Given the description of an element on the screen output the (x, y) to click on. 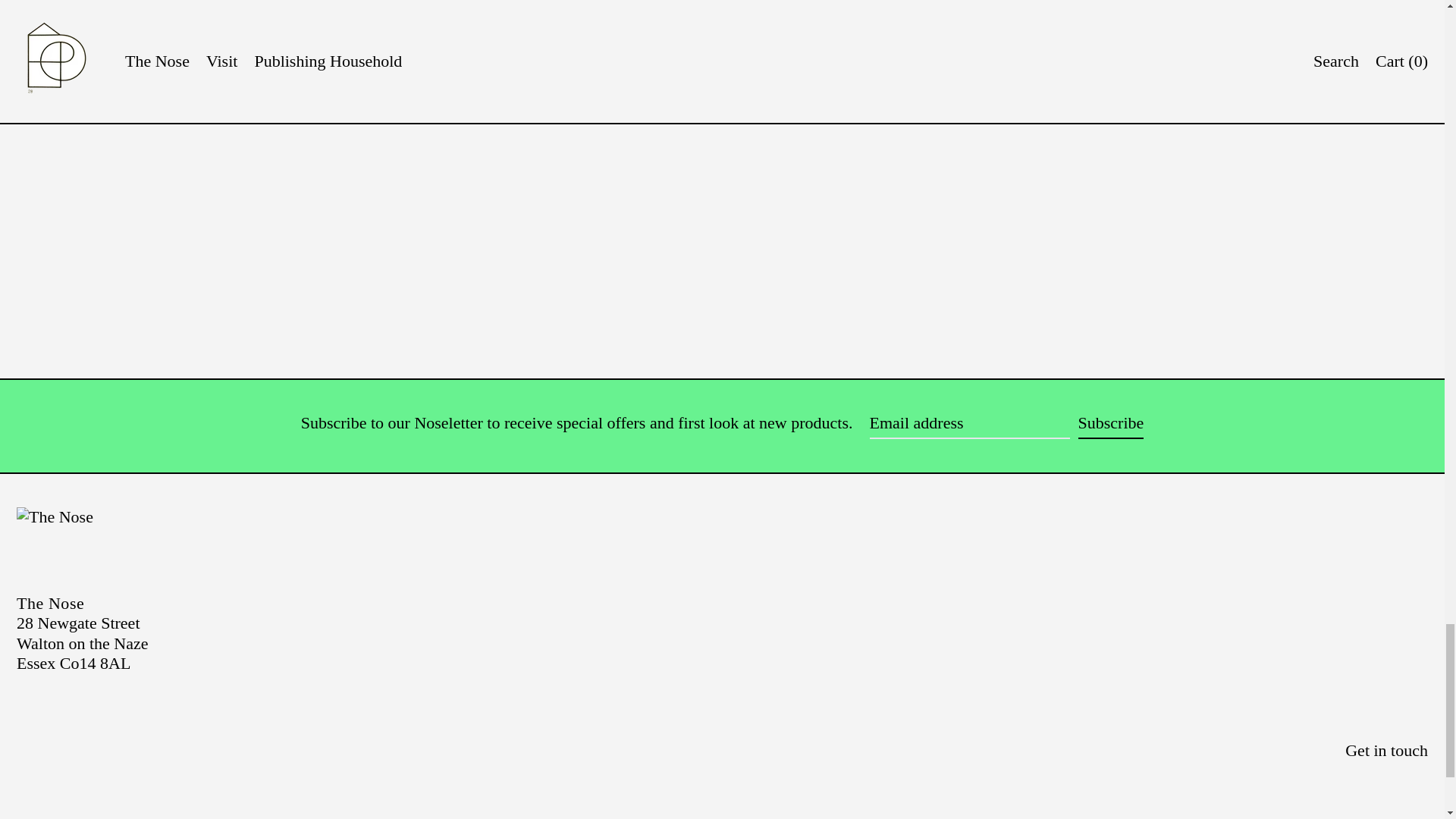
Subscribe (1111, 425)
Get in touch (1386, 750)
